Given the description of an element on the screen output the (x, y) to click on. 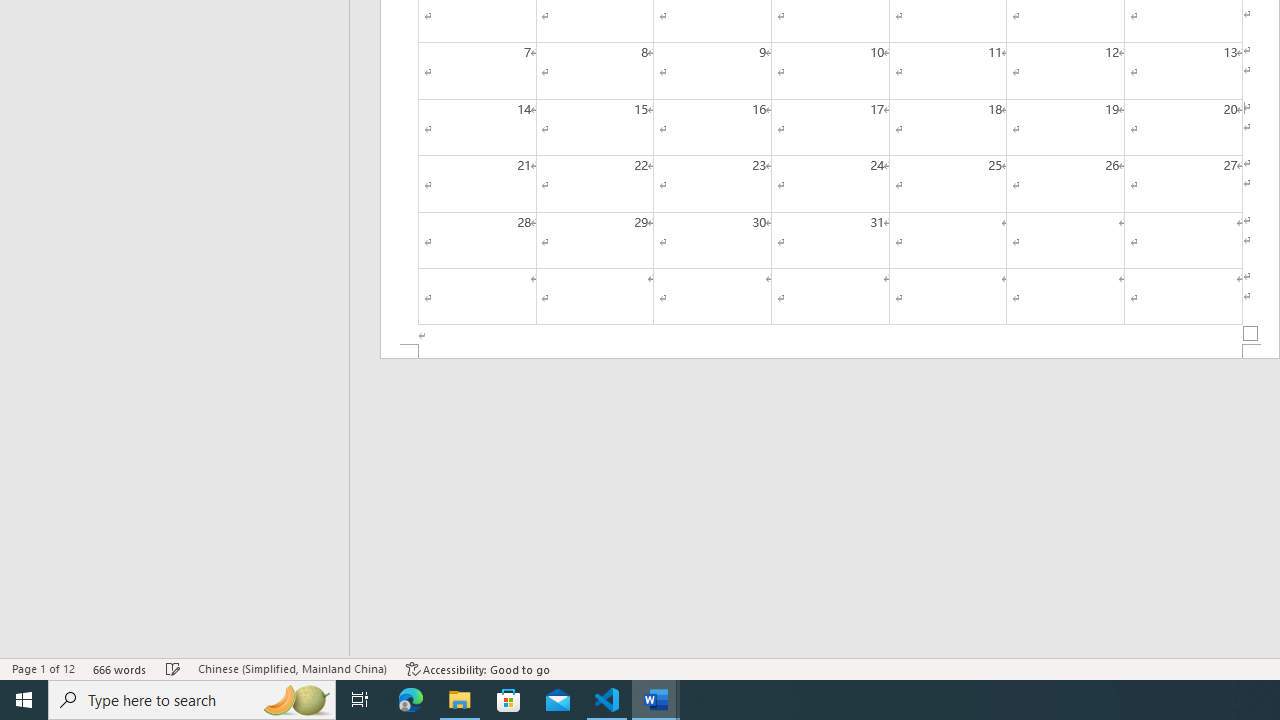
Word Count 666 words (119, 668)
Page Number Page 1 of 12 (43, 668)
